Given the description of an element on the screen output the (x, y) to click on. 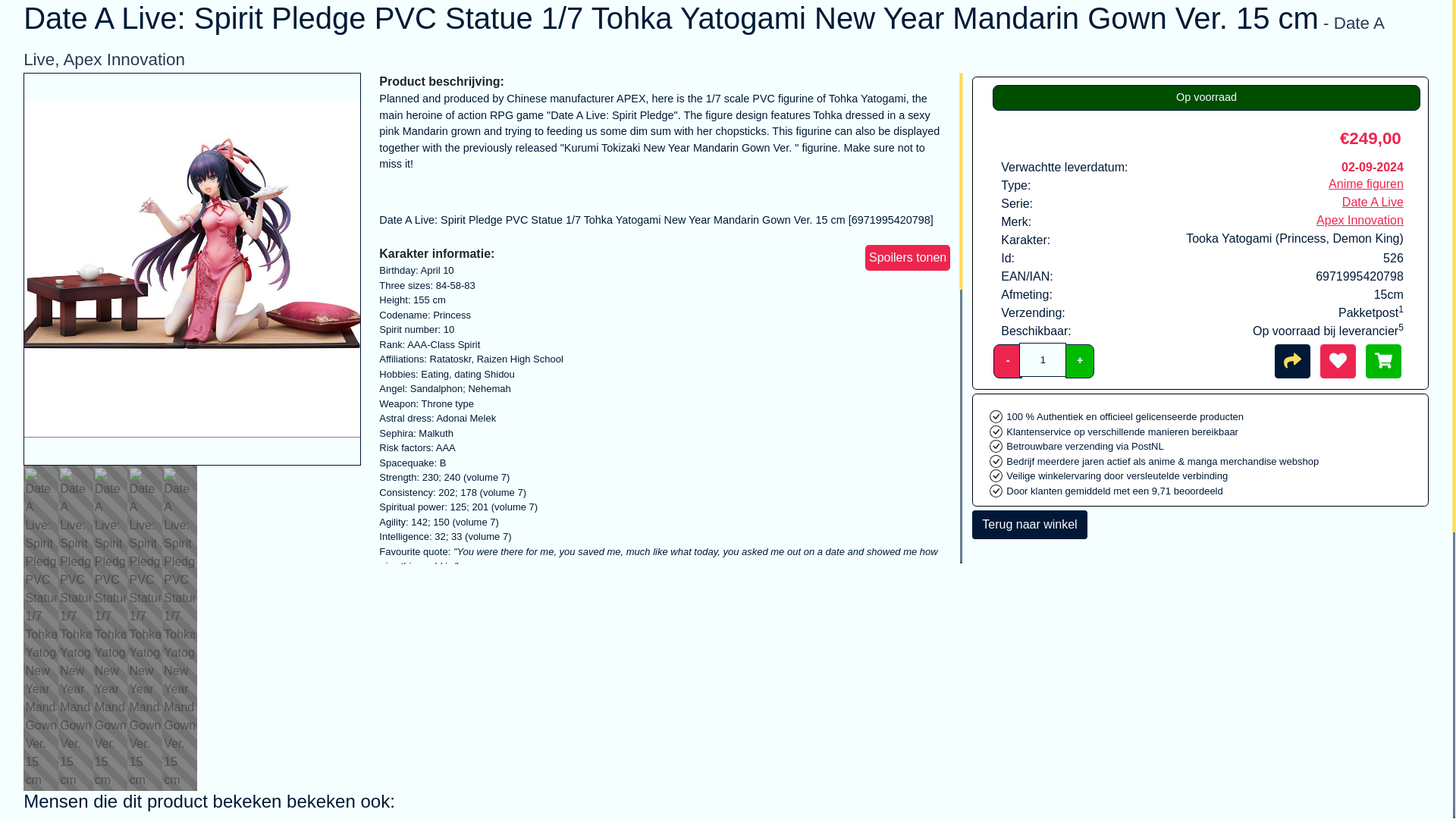
1 (1042, 359)
